Given the description of an element on the screen output the (x, y) to click on. 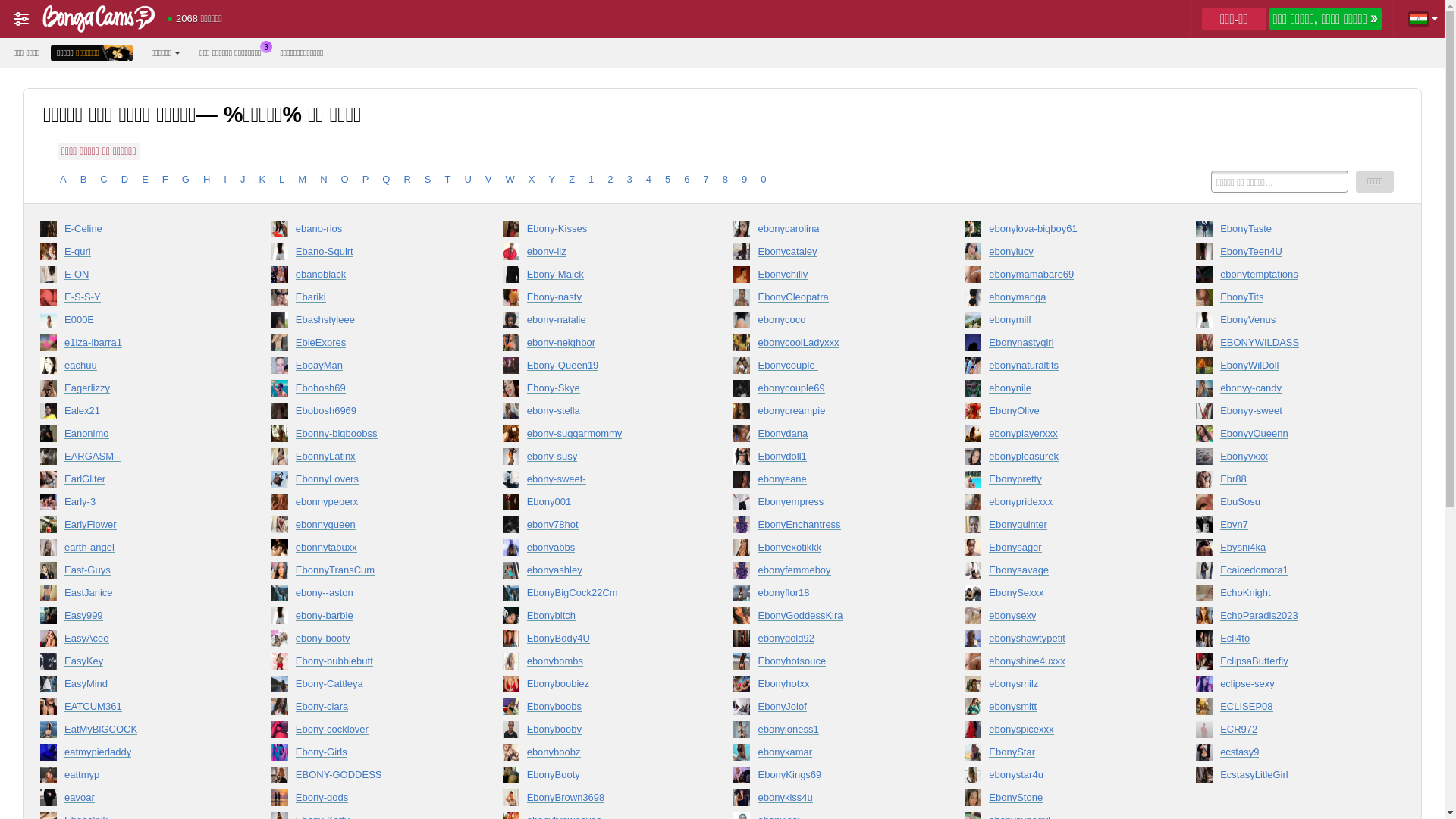
Ebonyboobs Element type: text (596, 709)
ebano-rios Element type: text (365, 231)
ebonylova-bigboy61 Element type: text (1058, 231)
EbonyOlive Element type: text (1058, 413)
7 Element type: text (706, 179)
ebonnyqueen Element type: text (365, 527)
R Element type: text (406, 179)
Ebonyyxxx Element type: text (1289, 459)
ebonycreampie Element type: text (827, 413)
ebony-susy Element type: text (596, 459)
T Element type: text (448, 179)
S Element type: text (427, 179)
Ebonny-bigboobss Element type: text (365, 436)
ebony-sweet- Element type: text (596, 481)
E-S-S-Y Element type: text (134, 299)
EBONY-GODDESS Element type: text (365, 777)
ebonycarolina Element type: text (827, 231)
ebonypridexxx Element type: text (1058, 504)
e1iza-ibarra1 Element type: text (134, 345)
EboayMan Element type: text (365, 368)
Ebony-gods Element type: text (365, 800)
EatMyBlGCOCK Element type: text (134, 732)
Ecaicedomota1 Element type: text (1289, 572)
C Element type: text (103, 179)
ebony-barbie Element type: text (365, 618)
Ebony-Maick Element type: text (596, 277)
Ebonysager Element type: text (1058, 550)
EbonyKings69 Element type: text (827, 777)
D Element type: text (124, 179)
J Element type: text (242, 179)
EchoParadis2023 Element type: text (1289, 618)
EATCUM361 Element type: text (134, 709)
ebonysmitt Element type: text (1058, 709)
M Element type: text (302, 179)
ebonynile Element type: text (1058, 390)
E000E Element type: text (134, 322)
ebonyplayerxxx Element type: text (1058, 436)
U Element type: text (467, 179)
ebanoblack Element type: text (365, 277)
Ebony-nasty Element type: text (596, 299)
Ebonyquinter Element type: text (1058, 527)
Ebonyhotsouce Element type: text (827, 663)
EbonyGoddessKira Element type: text (827, 618)
Ebonychilly Element type: text (827, 277)
EbleExpres Element type: text (365, 345)
Ebony-ciara Element type: text (365, 709)
G Element type: text (185, 179)
ebonycoco Element type: text (827, 322)
E-Celine Element type: text (134, 231)
Ebonyexotikkk Element type: text (827, 550)
ebonykiss4u Element type: text (827, 800)
ebonylucy Element type: text (1058, 254)
E-gurl Element type: text (134, 254)
Y Element type: text (551, 179)
EasyAcee Element type: text (134, 641)
ebonnypeperx Element type: text (365, 504)
6 Element type: text (686, 179)
ebonypleasurek Element type: text (1058, 459)
Ebyn7 Element type: text (1289, 527)
ebonybombs Element type: text (596, 663)
Ebonyempress Element type: text (827, 504)
ebonycoolLadyxxx Element type: text (827, 345)
Ebony-bubblebutt Element type: text (365, 663)
EarlGliter Element type: text (134, 481)
Ebonydana Element type: text (827, 436)
ebonykamar Element type: text (827, 754)
EbonnyLovers Element type: text (365, 481)
ebonyshine4uxxx Element type: text (1058, 663)
ebony--aston Element type: text (365, 595)
Ebobosh69 Element type: text (365, 390)
ebonygold92 Element type: text (827, 641)
EbonyJolof Element type: text (827, 709)
ebonyfemmeboy Element type: text (827, 572)
eachuu Element type: text (134, 368)
ebonyflor18 Element type: text (827, 595)
EbonyVenus Element type: text (1289, 322)
Ebysni4ka Element type: text (1289, 550)
Ebony-Queen19 Element type: text (596, 368)
ebony-natalie Element type: text (596, 322)
Ebariki Element type: text (365, 299)
Ebony001 Element type: text (596, 504)
P Element type: text (365, 179)
EbonyWilDoll Element type: text (1289, 368)
ebony-stella Element type: text (596, 413)
EARGASM-- Element type: text (134, 459)
ebonyashley Element type: text (596, 572)
K Element type: text (261, 179)
EasyKey Element type: text (134, 663)
F Element type: text (165, 179)
ebonymamabare69 Element type: text (1058, 277)
EbonyTeen4U Element type: text (1289, 254)
earth-angel Element type: text (134, 550)
N Element type: text (323, 179)
EbonyTaste Element type: text (1289, 231)
EclipsaButterfly Element type: text (1289, 663)
eatmypiedaddy Element type: text (134, 754)
Early-3 Element type: text (134, 504)
ebonnytabuxx Element type: text (365, 550)
1 Element type: text (590, 179)
EchoKnight Element type: text (1289, 595)
ecstasy9 Element type: text (1289, 754)
eattmyp Element type: text (134, 777)
ECR972 Element type: text (1289, 732)
ebonyspicexxx Element type: text (1058, 732)
Ebony-Cattleya Element type: text (365, 686)
EbonyBigCock22Cm Element type: text (596, 595)
E-ON Element type: text (134, 277)
ECLISEP08 Element type: text (1289, 709)
2 Element type: text (609, 179)
EBONYWILDASS Element type: text (1289, 345)
ebonymanga Element type: text (1058, 299)
East-Guys Element type: text (134, 572)
Ebonydoll1 Element type: text (827, 459)
EbonyStar Element type: text (1058, 754)
EbonyTits Element type: text (1289, 299)
ebonyboobz Element type: text (596, 754)
ebonysexy Element type: text (1058, 618)
Ebonybooby Element type: text (596, 732)
W Element type: text (509, 179)
O Element type: text (344, 179)
X Element type: text (531, 179)
EbonyEnchantress Element type: text (827, 527)
EarlyFlower Element type: text (134, 527)
Ealex21 Element type: text (134, 413)
ebonyjoness1 Element type: text (827, 732)
V Element type: text (488, 179)
eavoar Element type: text (134, 800)
EbonySexxx Element type: text (1058, 595)
ebony-suggarmommy Element type: text (596, 436)
9 Element type: text (743, 179)
Ebonyhotxx Element type: text (827, 686)
EbuSosu Element type: text (1289, 504)
EasyMind Element type: text (134, 686)
EbonyBooty Element type: text (596, 777)
L Element type: text (281, 179)
ebonycouple69 Element type: text (827, 390)
0 Element type: text (762, 179)
8 Element type: text (725, 179)
eclipse-sexy Element type: text (1289, 686)
4 Element type: text (648, 179)
ebony78hot Element type: text (596, 527)
ebony-booty Element type: text (365, 641)
Ebonypretty Element type: text (1058, 481)
EastJanice Element type: text (134, 595)
Ebonycouple- Element type: text (827, 368)
Eanonimo Element type: text (134, 436)
ebonyy-candy Element type: text (1289, 390)
ebonystar4u Element type: text (1058, 777)
ebonysmilz Element type: text (1058, 686)
3 Element type: text (629, 179)
Ebony-Skye Element type: text (596, 390)
I Element type: text (224, 179)
B Element type: text (83, 179)
Ebano-Squirt Element type: text (365, 254)
ebonytemptations Element type: text (1289, 277)
ebonyshawtypetit Element type: text (1058, 641)
Ebony-Girls Element type: text (365, 754)
Ebonysavage Element type: text (1058, 572)
A Element type: text (62, 179)
Ebony-cocklover Element type: text (365, 732)
Q Element type: text (385, 179)
EbonnyLatinx Element type: text (365, 459)
Ebony-Kisses Element type: text (596, 231)
EcstasyLitleGirl Element type: text (1289, 777)
Ebonybitch Element type: text (596, 618)
EbonnyTransCum Element type: text (365, 572)
EbonyCleopatra Element type: text (827, 299)
Ebr88 Element type: text (1289, 481)
H Element type: text (206, 179)
Ecli4to Element type: text (1289, 641)
ebonymilf Element type: text (1058, 322)
ebony-neighbor Element type: text (596, 345)
Easy999 Element type: text (134, 618)
Ebonynastygirl Element type: text (1058, 345)
EbonyStone Element type: text (1058, 800)
5 Element type: text (667, 179)
ebonyeane Element type: text (827, 481)
Z Element type: text (571, 179)
ebony-liz Element type: text (596, 254)
Ebobosh6969 Element type: text (365, 413)
Ebashstyleee Element type: text (365, 322)
ebonynaturaltits Element type: text (1058, 368)
Ebonyy-sweet Element type: text (1289, 413)
EbonyyQueenn Element type: text (1289, 436)
Ebonycataley Element type: text (827, 254)
EbonyBrown3698 Element type: text (596, 800)
Eagerlizzy Element type: text (134, 390)
ebonyabbs Element type: text (596, 550)
EbonyBody4U Element type: text (596, 641)
Ebonyboobiez Element type: text (596, 686)
